Given the description of an element on the screen output the (x, y) to click on. 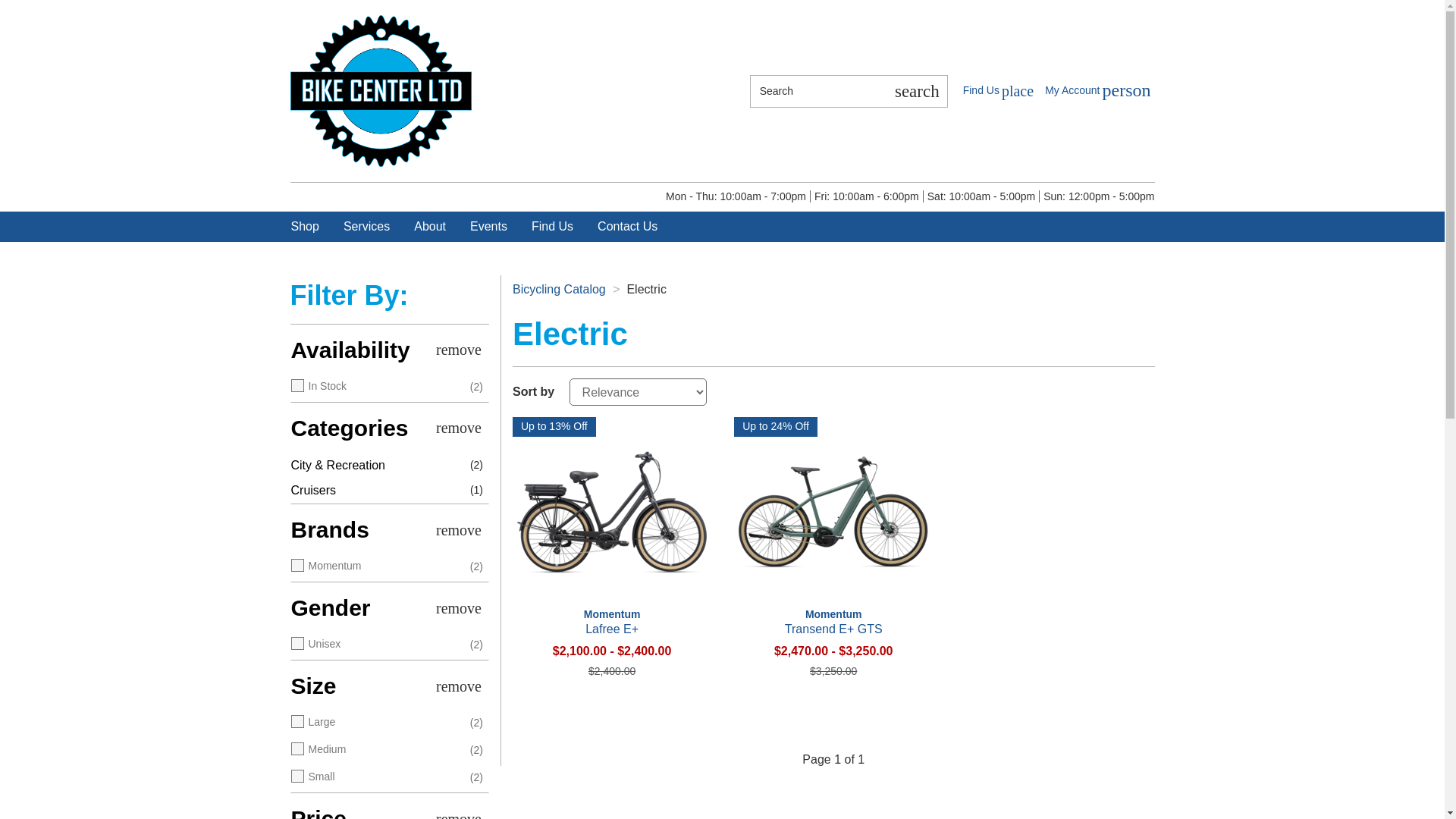
Bike Center Ltd Home Page (380, 90)
Search (817, 90)
Store (997, 90)
Account (1097, 90)
Search (997, 90)
Cruisers (1097, 90)
Shop (916, 90)
